Given the description of an element on the screen output the (x, y) to click on. 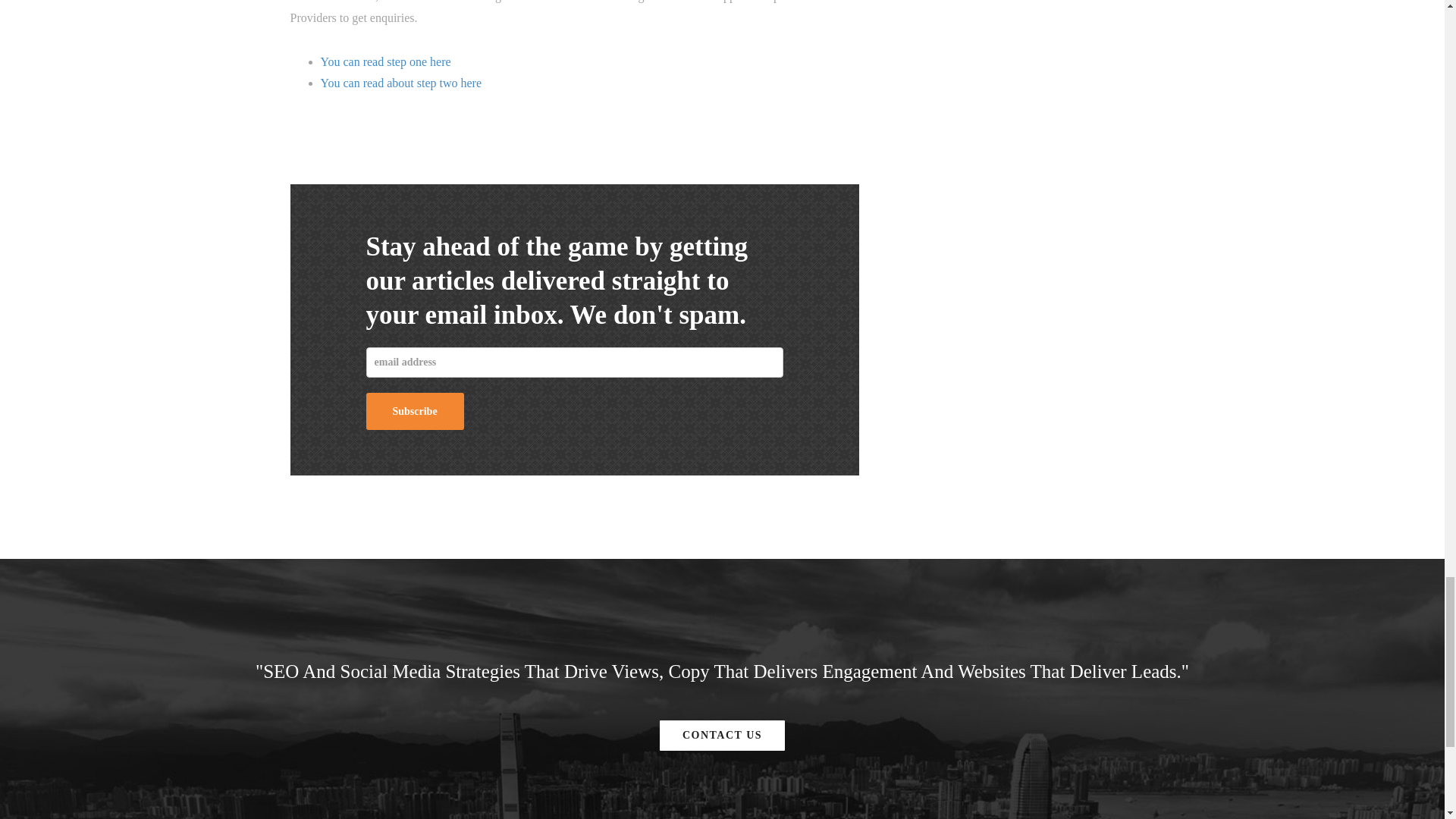
You can read about step two here (400, 82)
Subscribe (414, 411)
Subscribe (414, 411)
You can read step one here (384, 61)
CONTACT US (721, 735)
